Given the description of an element on the screen output the (x, y) to click on. 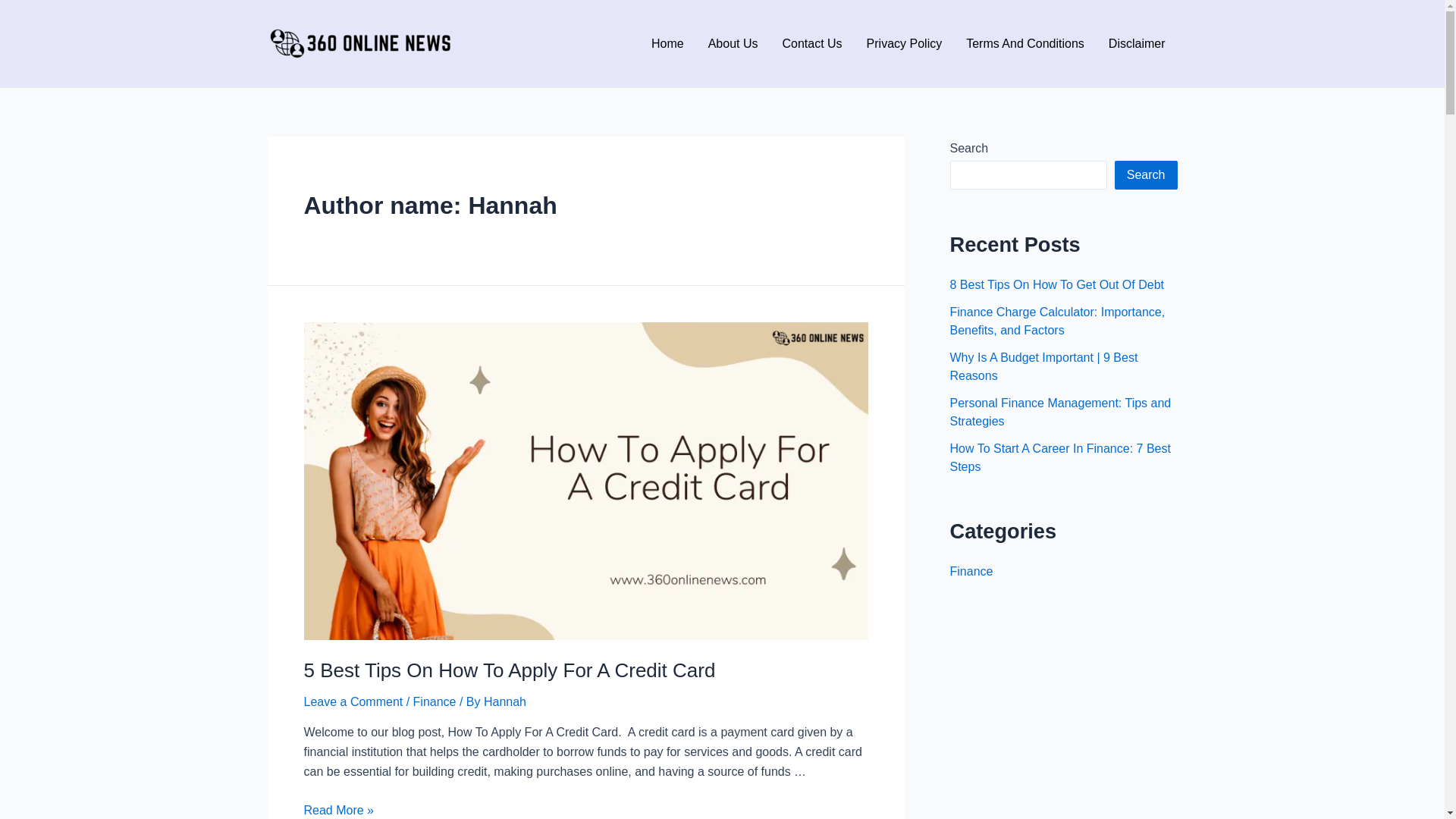
Home Element type: text (667, 43)
Search Element type: text (1145, 174)
8 Best Tips On How To Get Out Of Debt Element type: text (1056, 284)
Terms And Conditions Element type: text (1024, 43)
Why Is A Budget Important | 9 Best Reasons Element type: text (1043, 366)
Personal Finance Management: Tips and Strategies Element type: text (1059, 411)
About Us Element type: text (733, 43)
Finance Element type: text (434, 701)
Contact Us Element type: text (811, 43)
Finance Element type: text (970, 570)
Leave a Comment Element type: text (352, 701)
Hannah Element type: text (504, 701)
Finance Charge Calculator: Importance, Benefits, and Factors Element type: text (1056, 320)
Privacy Policy Element type: text (904, 43)
Disclaimer Element type: text (1136, 43)
5 Best Tips On How To Apply For A Credit Card Element type: text (509, 669)
How To Start A Career In Finance: 7 Best Steps Element type: text (1059, 457)
